Given the description of an element on the screen output the (x, y) to click on. 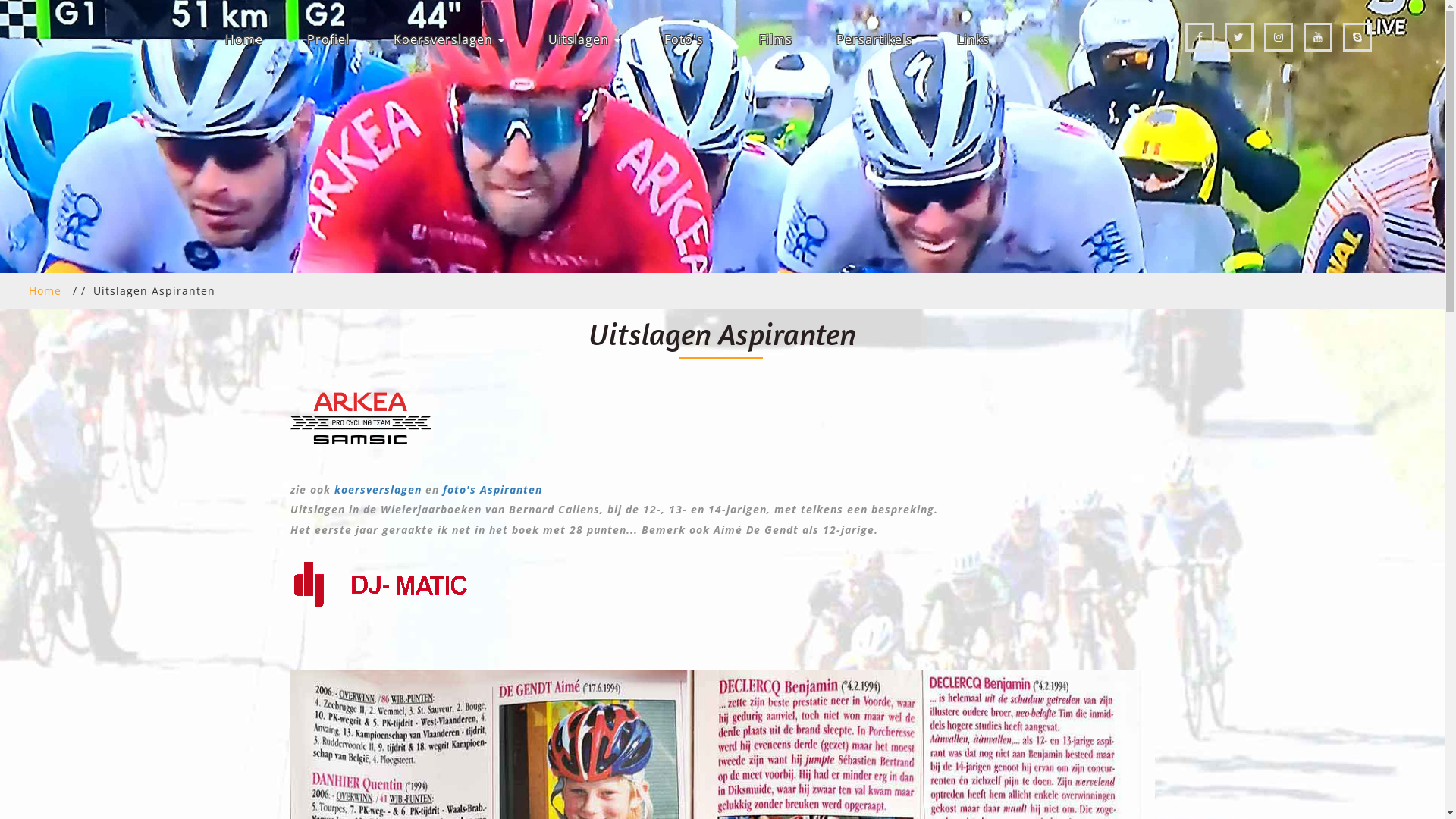
Koersverslagen Element type: text (447, 39)
Home Element type: text (243, 39)
Persartikels Element type: text (873, 39)
koersverslagen Element type: text (378, 489)
Foto's Element type: text (689, 39)
Links Element type: text (972, 39)
Films Element type: text (774, 39)
Home Element type: text (44, 290)
Uitslagen Element type: text (583, 39)
foto's Aspiranten Element type: text (492, 489)
Profiel Element type: text (327, 39)
